Given the description of an element on the screen output the (x, y) to click on. 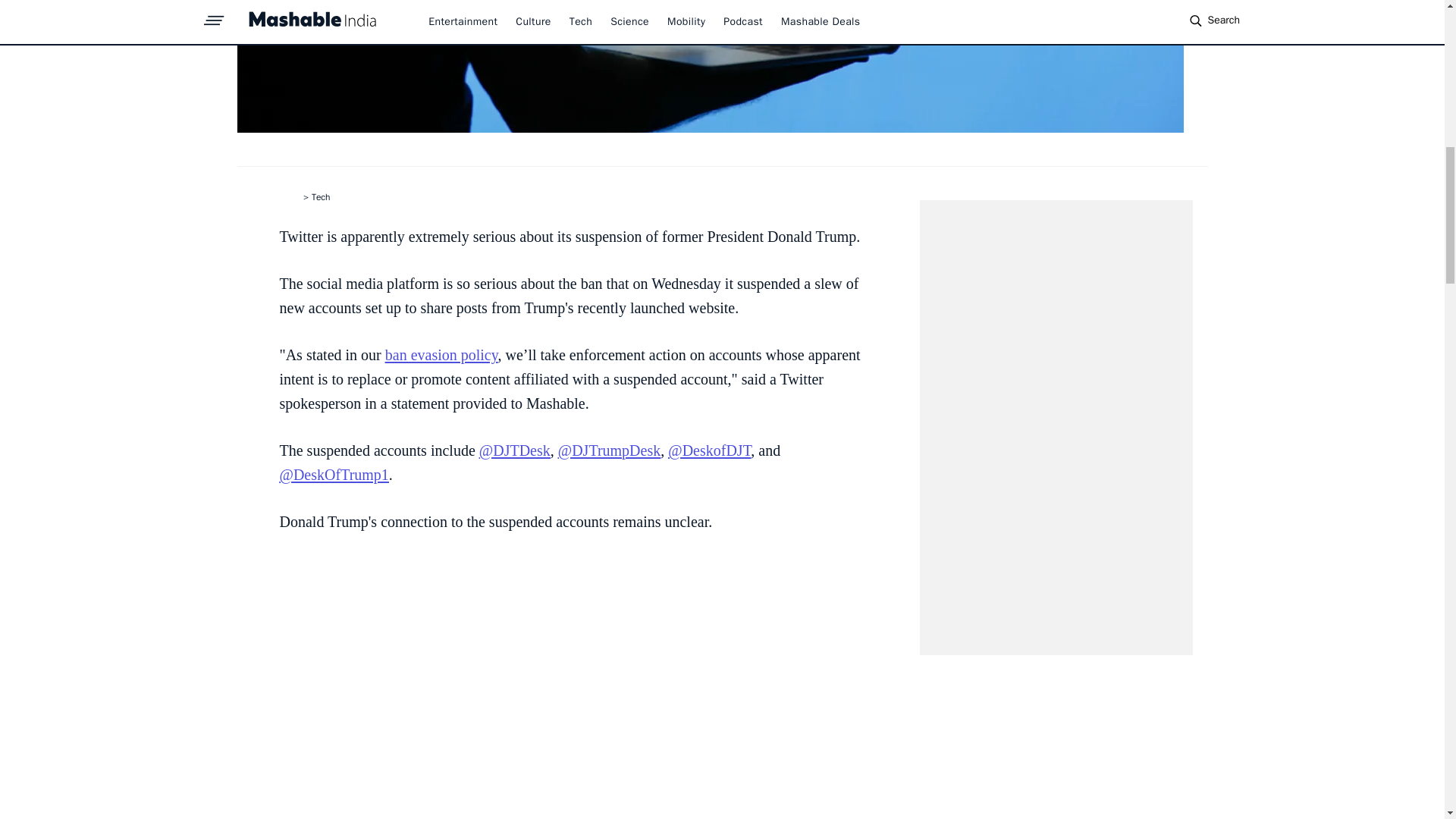
ban evasion policy (441, 354)
